Given the description of an element on the screen output the (x, y) to click on. 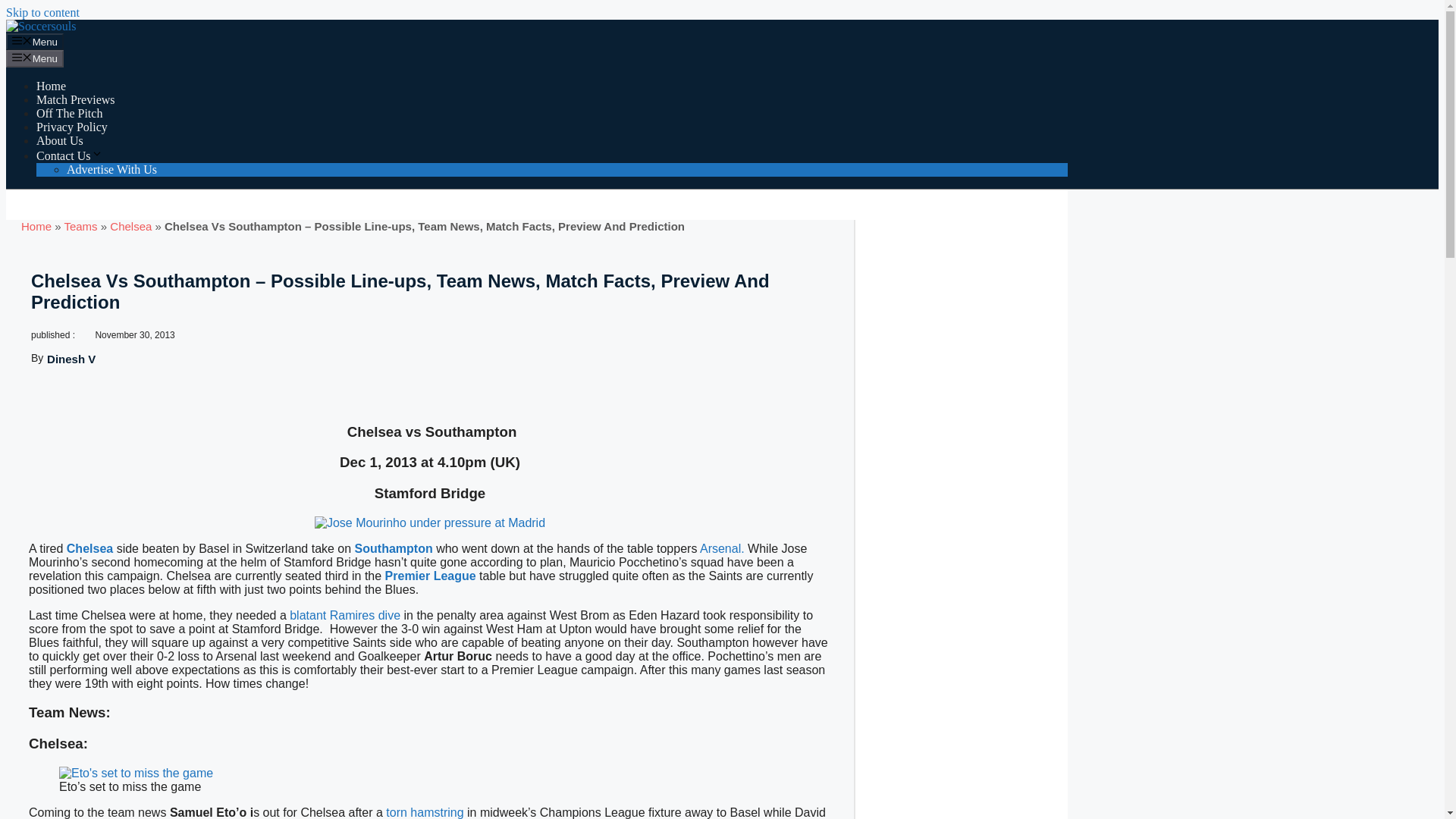
Eto's set to miss the game (135, 773)
Arsenal. (722, 548)
blatant Ramires dive (346, 615)
Skip to content (42, 11)
Match Previews (75, 99)
Privacy Policy (71, 126)
Teams (80, 226)
Premier League (432, 575)
Home (50, 85)
Menu (34, 41)
About Us (59, 140)
Skip to content (42, 11)
Southampton (395, 548)
torn hamstring (426, 812)
Menu (34, 57)
